Given the description of an element on the screen output the (x, y) to click on. 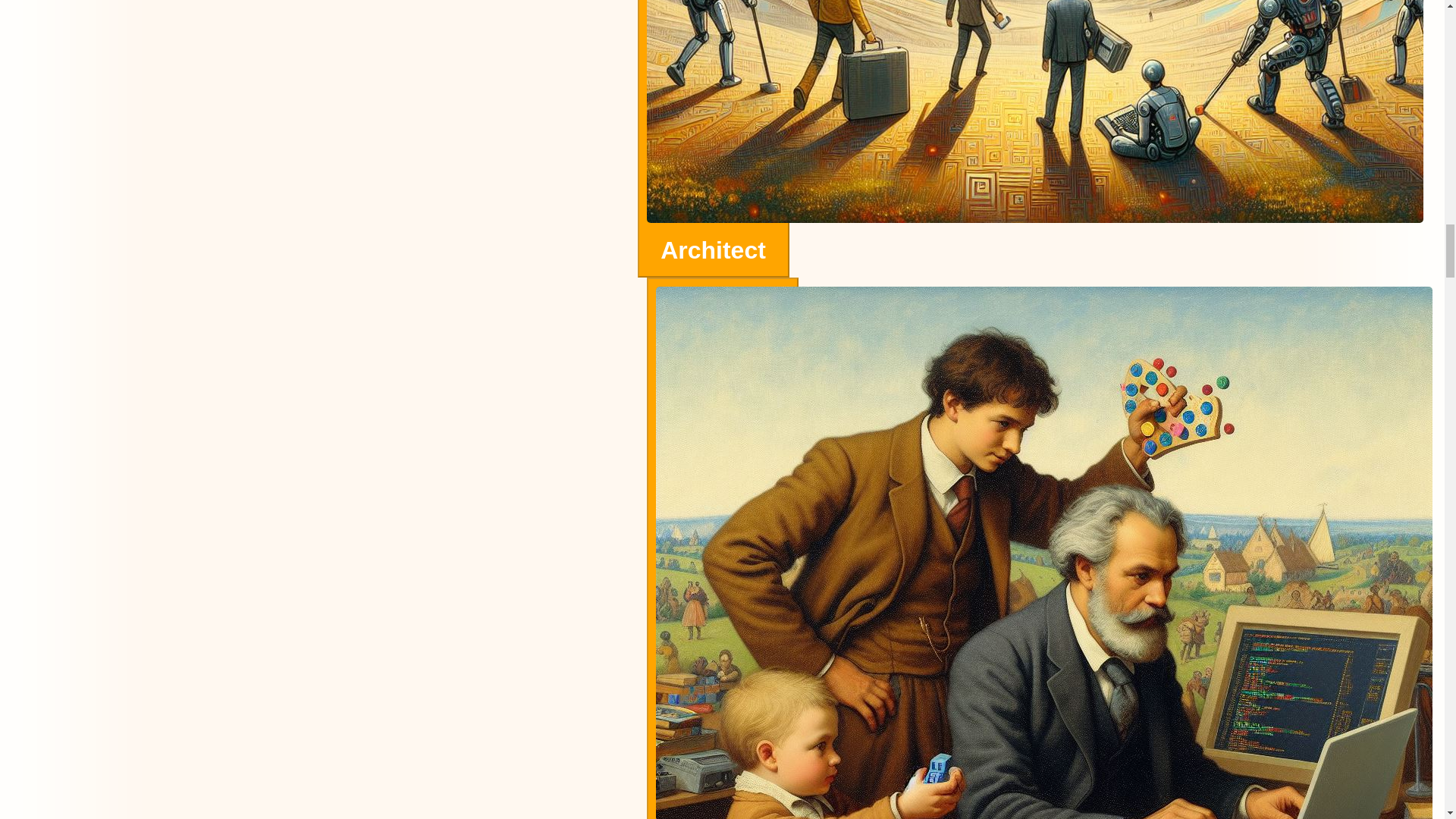
Developer (721, 548)
Architect (713, 254)
Architect (713, 138)
